Given the description of an element on the screen output the (x, y) to click on. 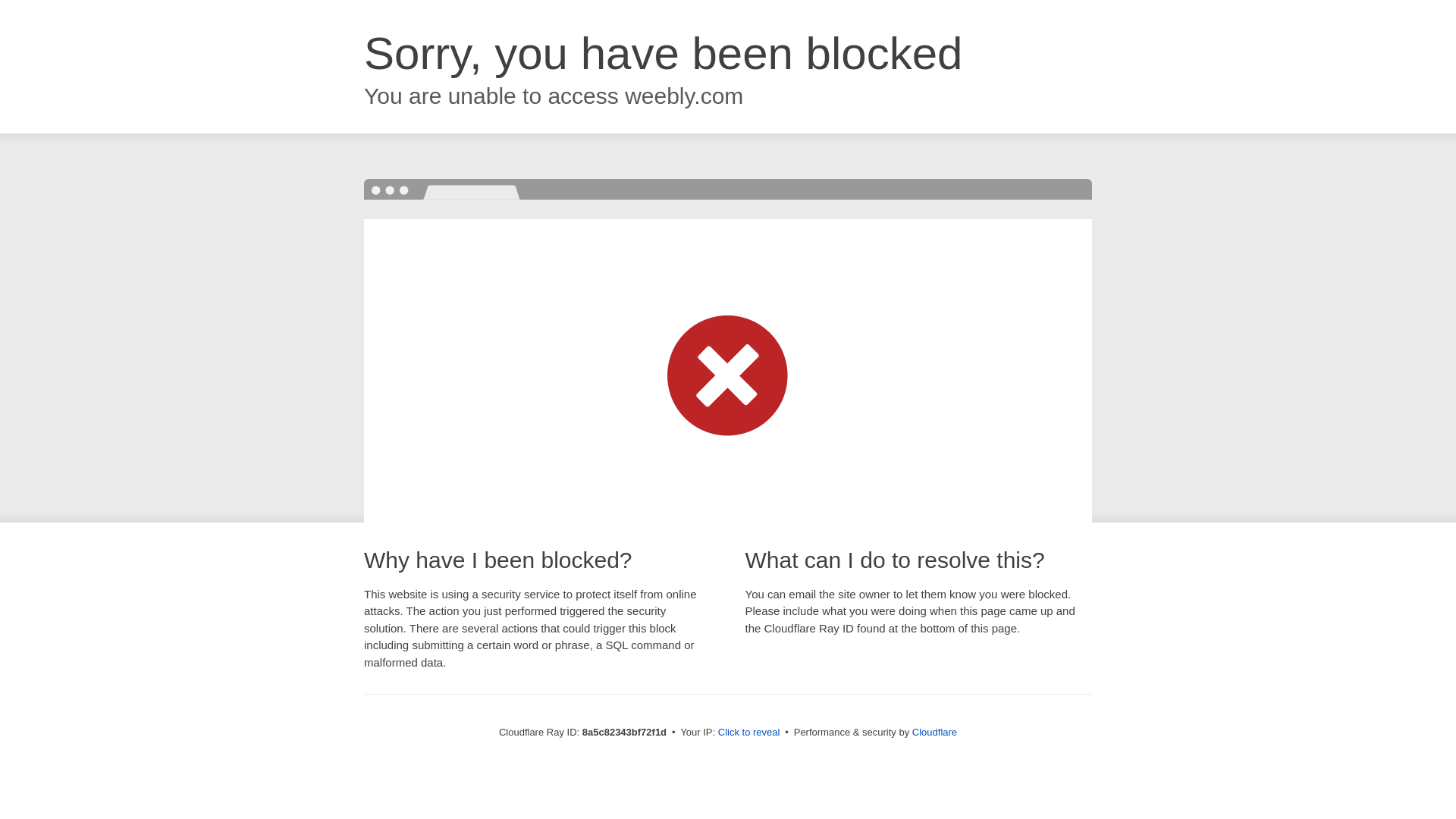
Click to reveal (748, 732)
Cloudflare (934, 731)
